Given the description of an element on the screen output the (x, y) to click on. 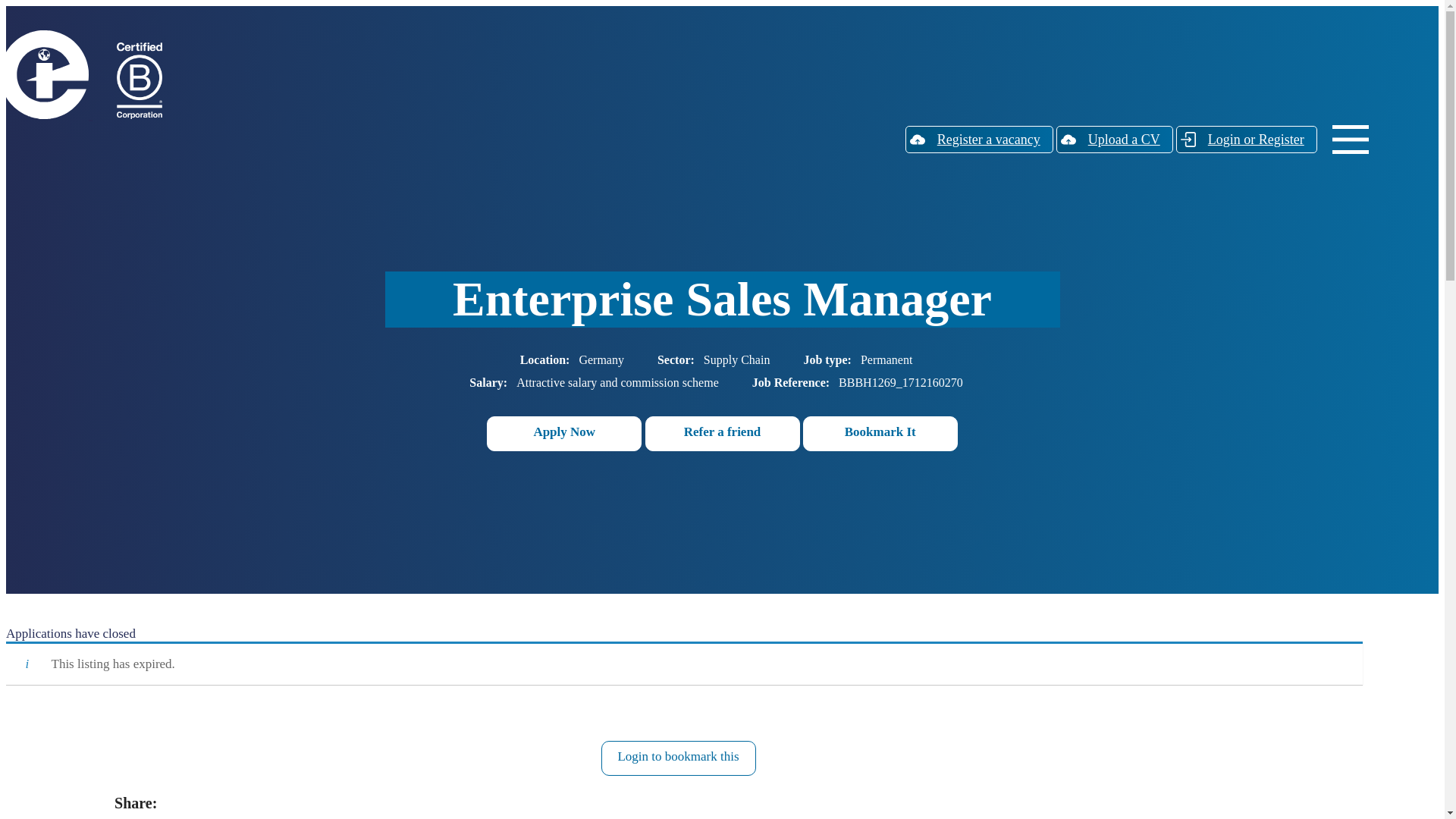
Register a vacancy (978, 139)
Login or Register (1246, 139)
Upload a CV (1115, 139)
